Given the description of an element on the screen output the (x, y) to click on. 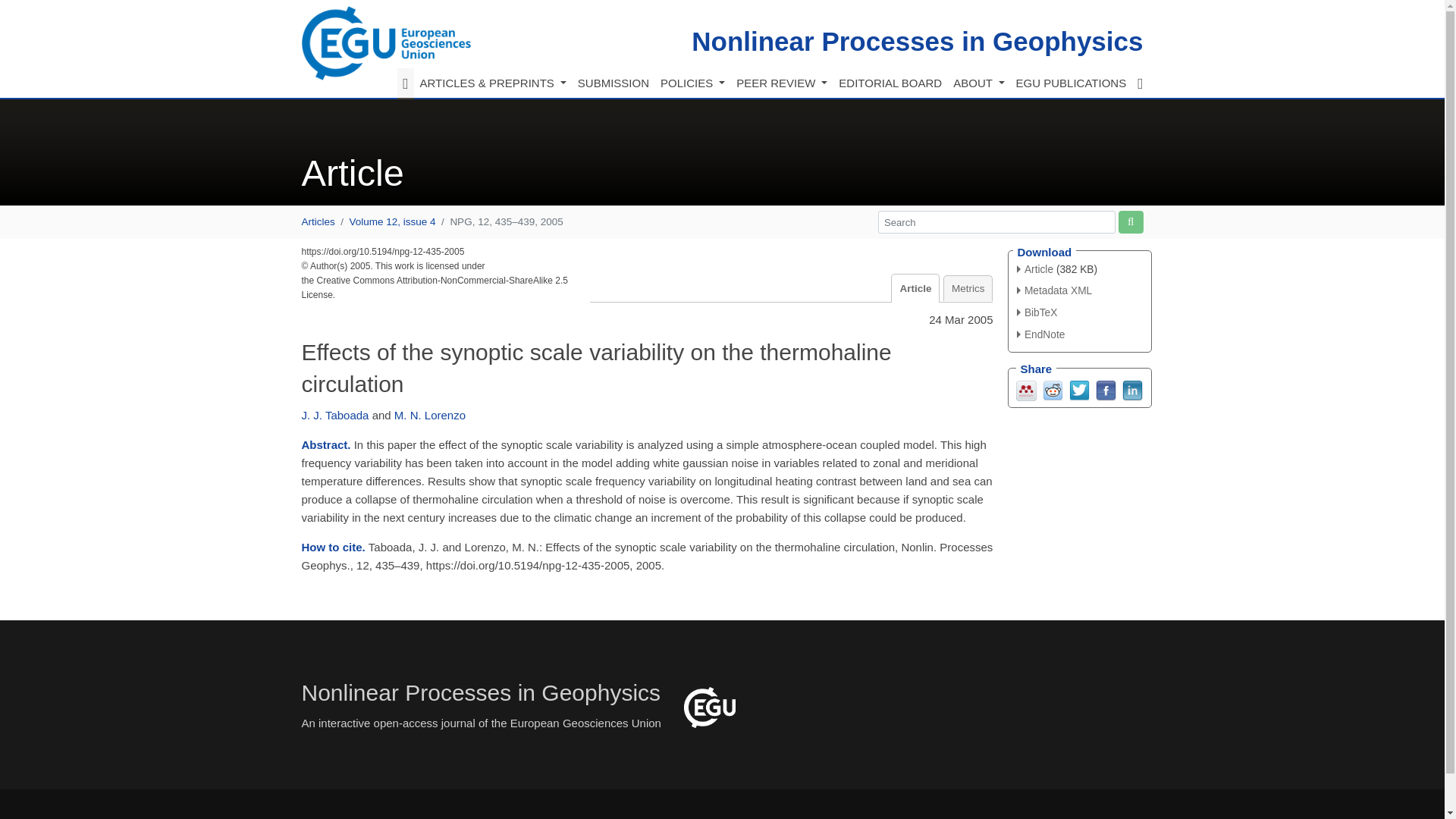
Nonlinear Processes in Geophysics (916, 41)
Mendeley (1026, 389)
XML Version (1054, 290)
SUBMISSION (612, 83)
Reddit (1052, 389)
Start site search (1130, 221)
PEER REVIEW (781, 83)
Facebook (1104, 389)
Twitter (1078, 389)
POLICIES (691, 83)
